Given the description of an element on the screen output the (x, y) to click on. 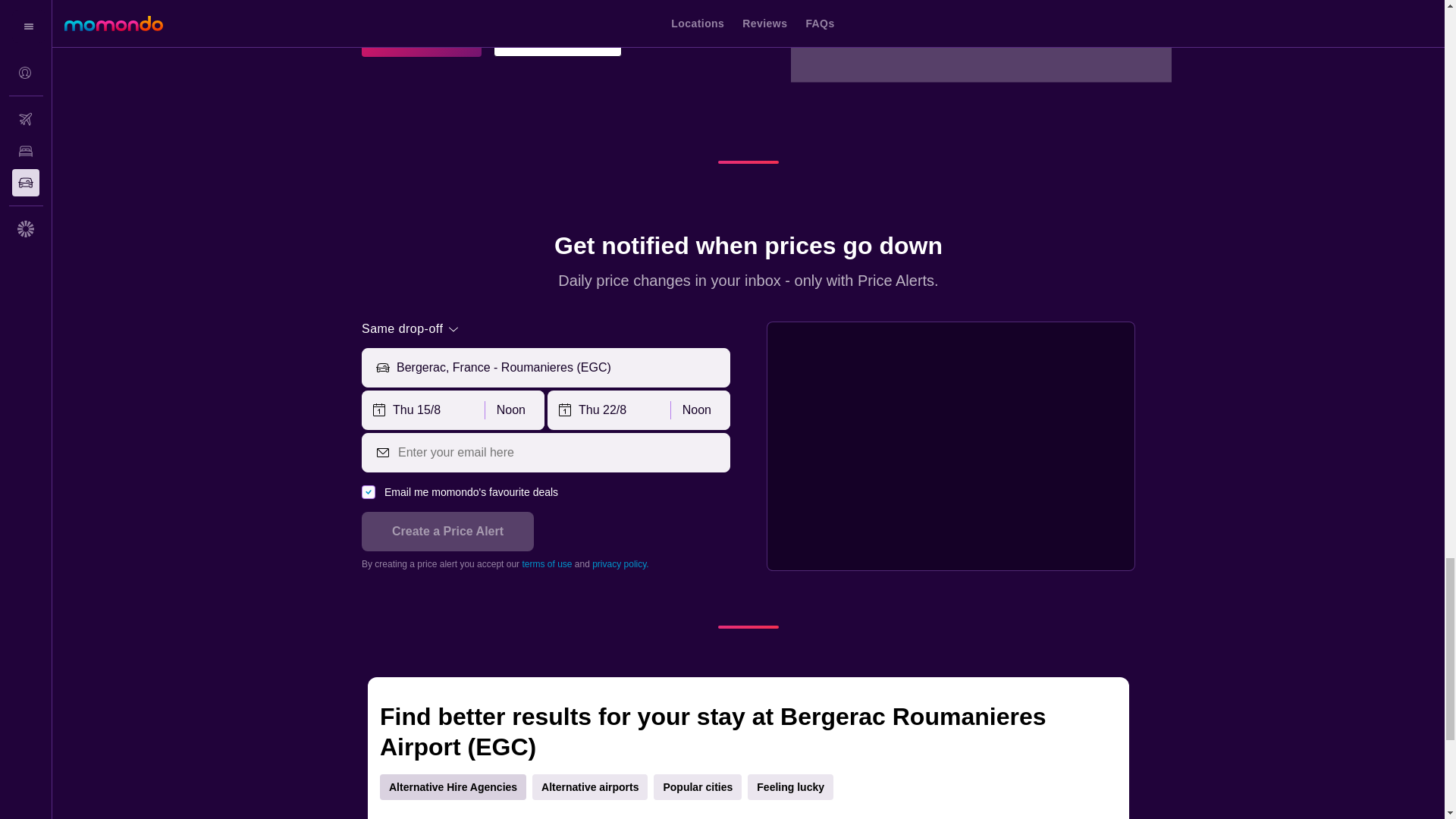
Feeling lucky (790, 786)
Popular cities (697, 786)
terms of use (546, 563)
privacy policy. (619, 563)
Start using Trips (421, 36)
Alternative Hire Agencies (452, 786)
Create a Price Alert (447, 531)
Alternative airports (589, 786)
Find my bookings (557, 36)
